Given the description of an element on the screen output the (x, y) to click on. 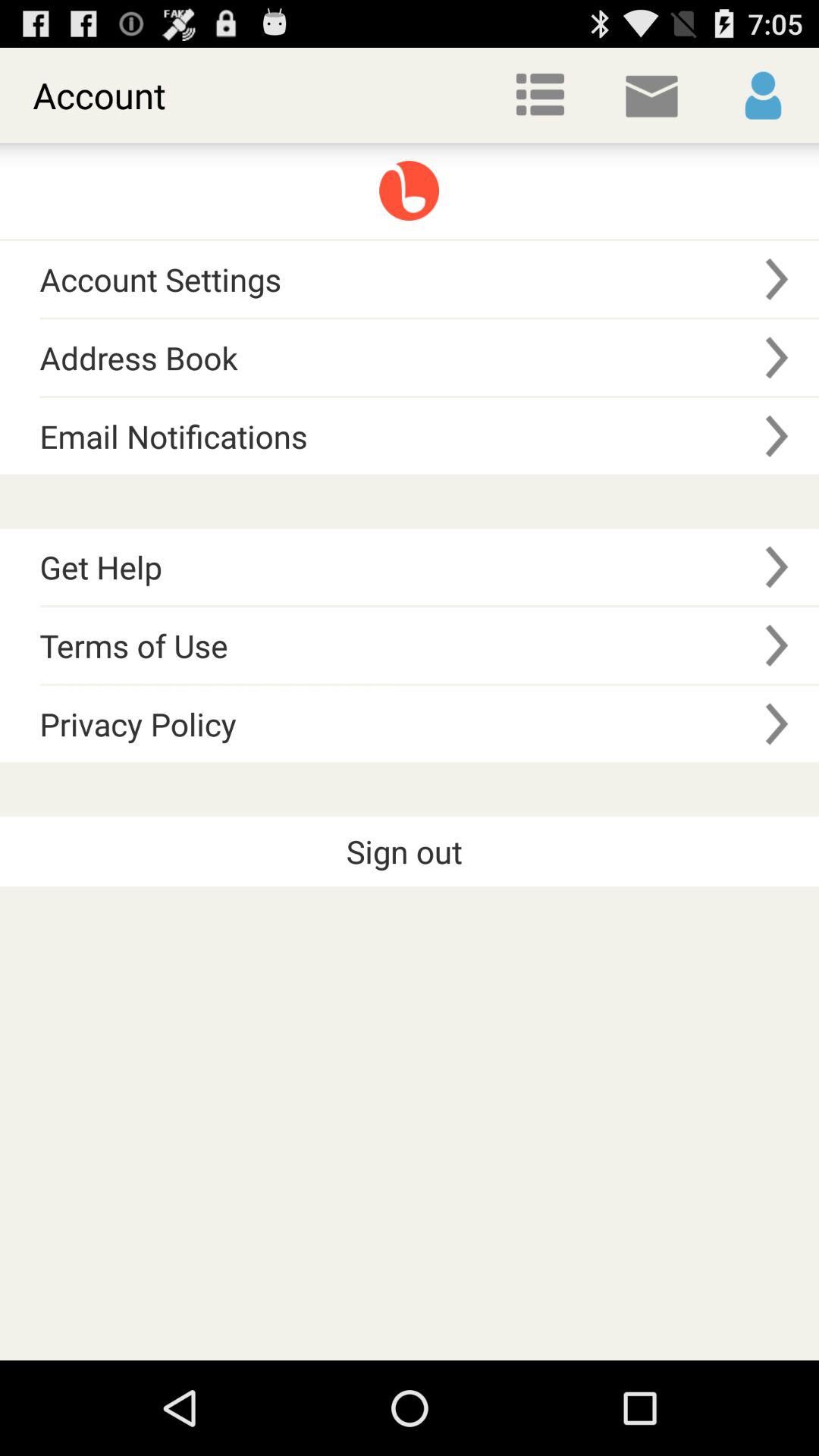
flip to the sign out item (409, 851)
